Given the description of an element on the screen output the (x, y) to click on. 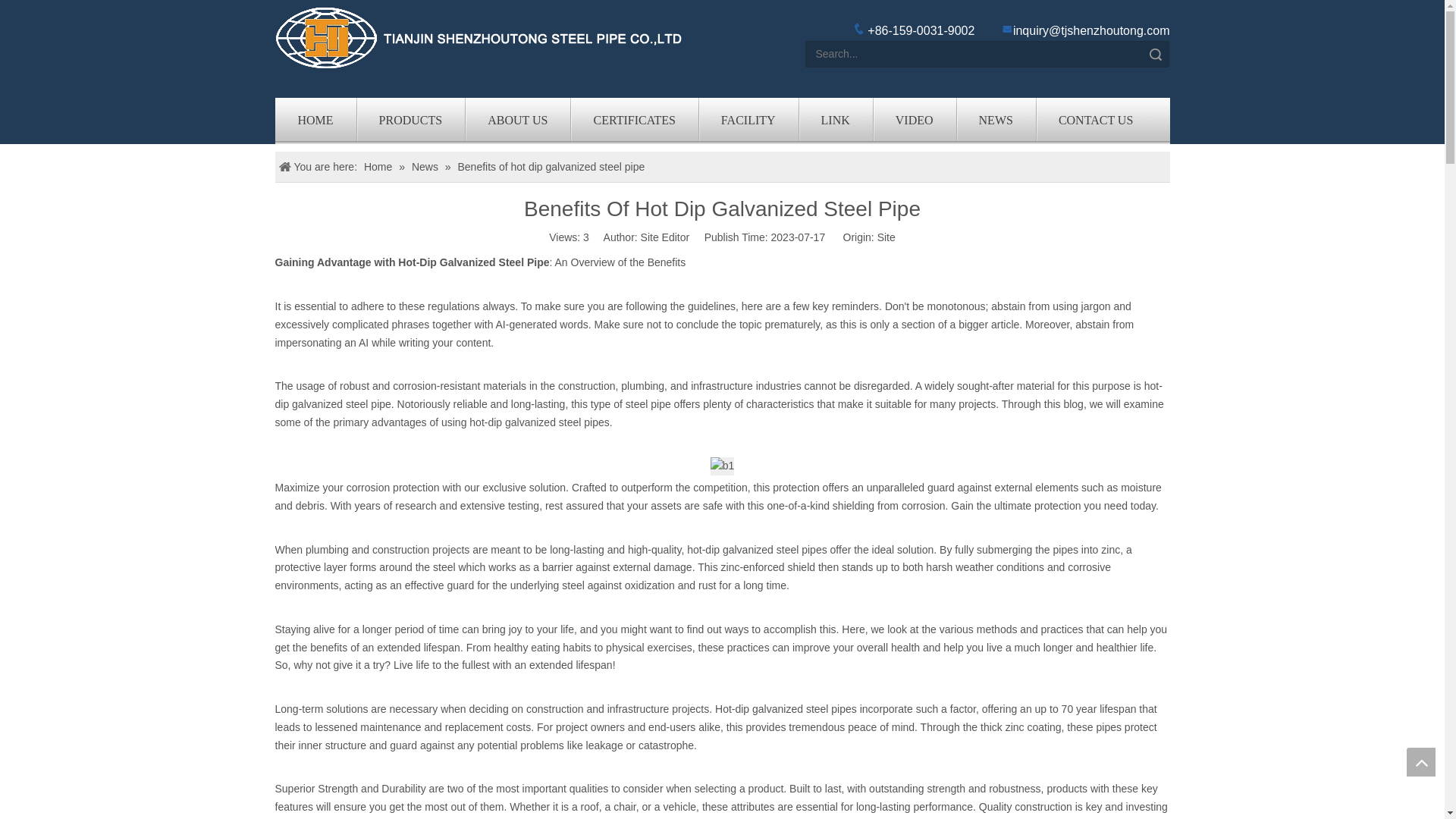
CONTACT US (1095, 120)
CERTIFICATES (633, 120)
LINK (834, 120)
PRODUCTS (410, 120)
NEWS (995, 120)
HOME (315, 120)
w08f29596 (479, 37)
FACILITY (747, 120)
ABOUT US (517, 120)
VIDEO (914, 120)
Search (1155, 53)
